Given the description of an element on the screen output the (x, y) to click on. 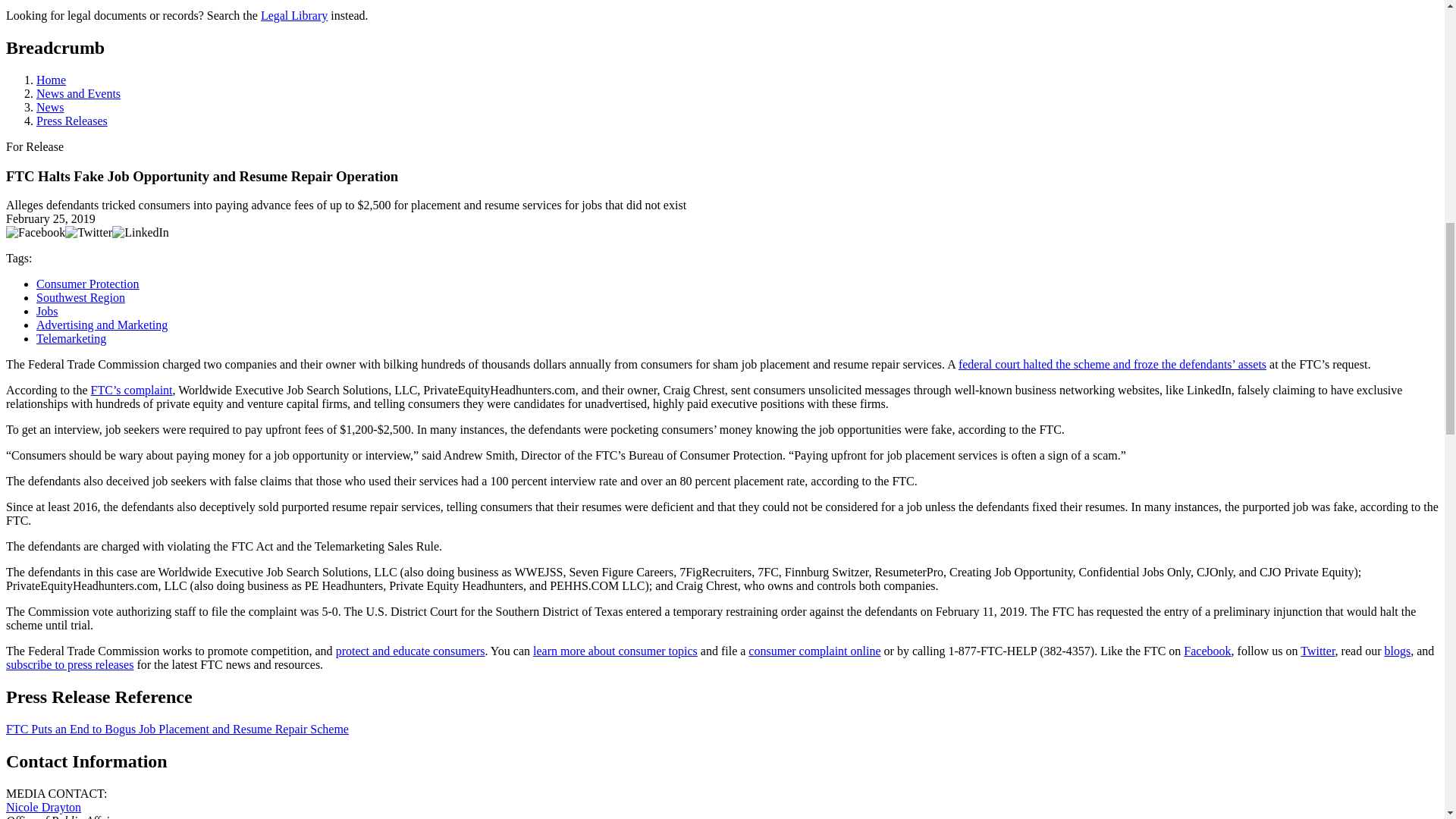
News (50, 106)
Home (50, 79)
Press Releases (71, 120)
Legal Library (293, 15)
News and Events (78, 92)
